Given the description of an element on the screen output the (x, y) to click on. 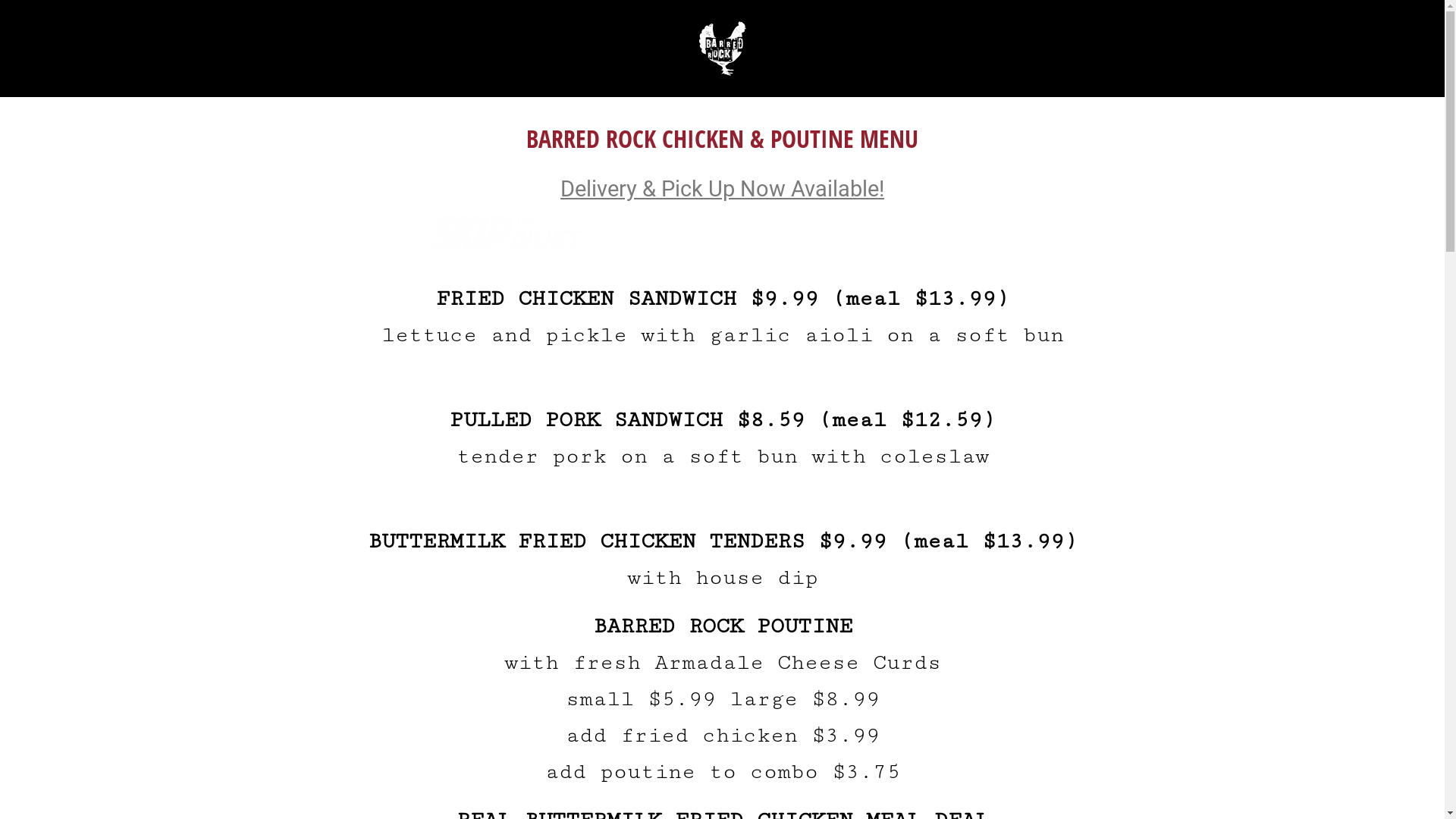
Call us for take-out: 506-638-9378 Element type: text (937, 231)
